Given the description of an element on the screen output the (x, y) to click on. 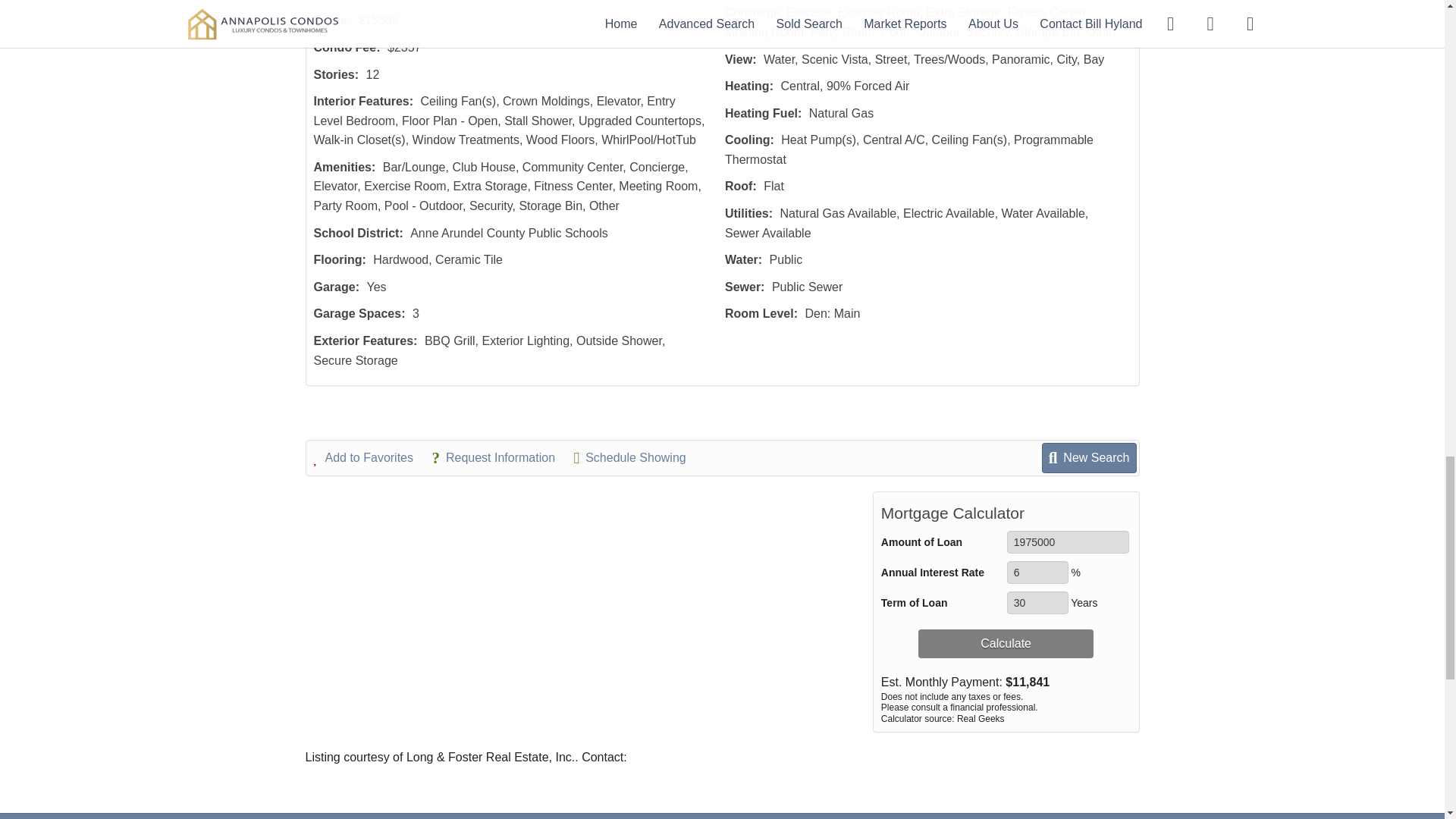
6 (1037, 572)
30 (1037, 602)
1975000 (1068, 541)
